Given the description of an element on the screen output the (x, y) to click on. 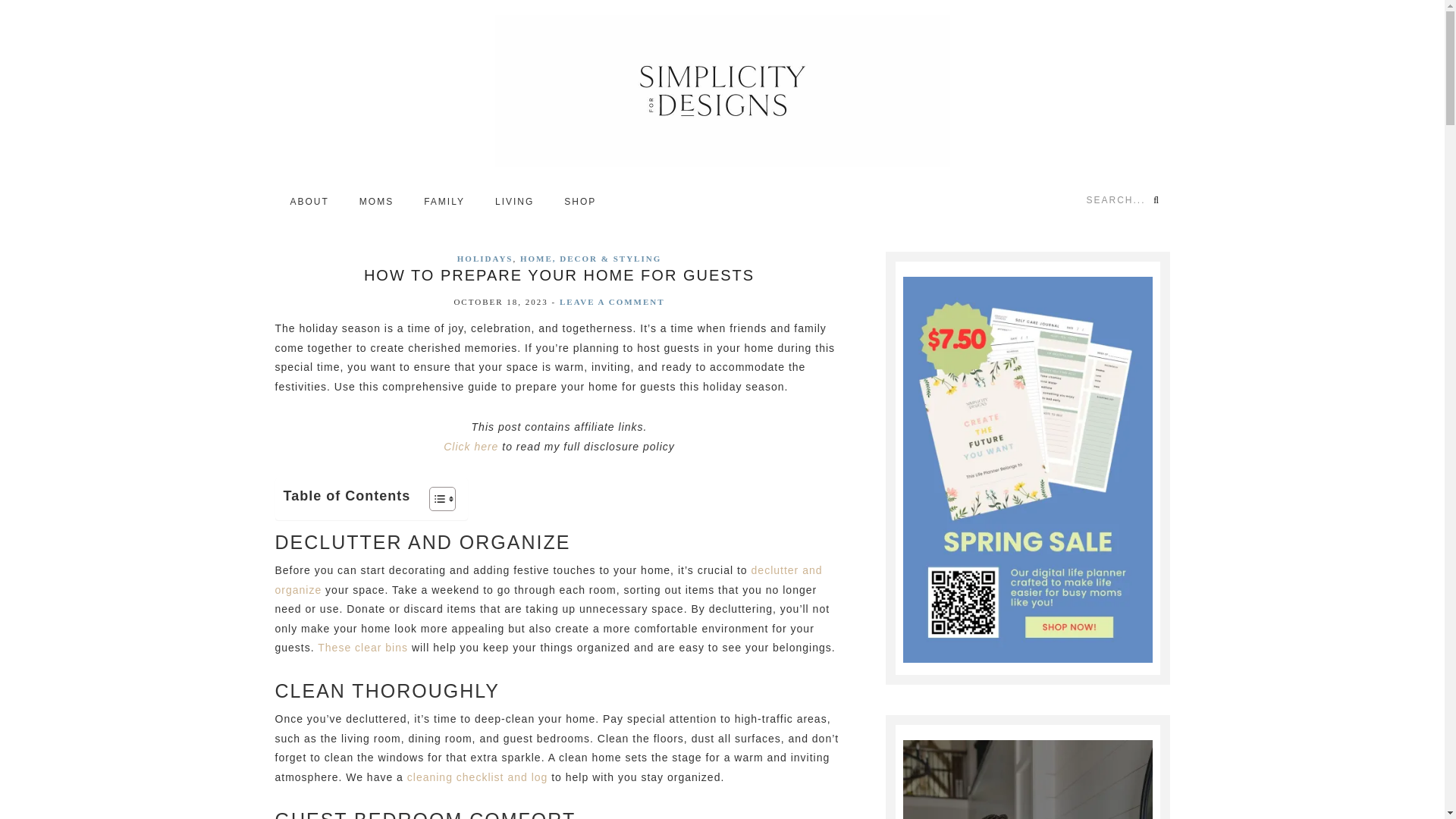
LIVING (514, 201)
SHOP (579, 201)
Simplicity for Designs (722, 91)
MOMS (376, 201)
FAMILY (444, 201)
ABOUT (309, 201)
LEAVE A COMMENT (612, 301)
HOLIDAYS (485, 258)
Click here (470, 446)
